Given the description of an element on the screen output the (x, y) to click on. 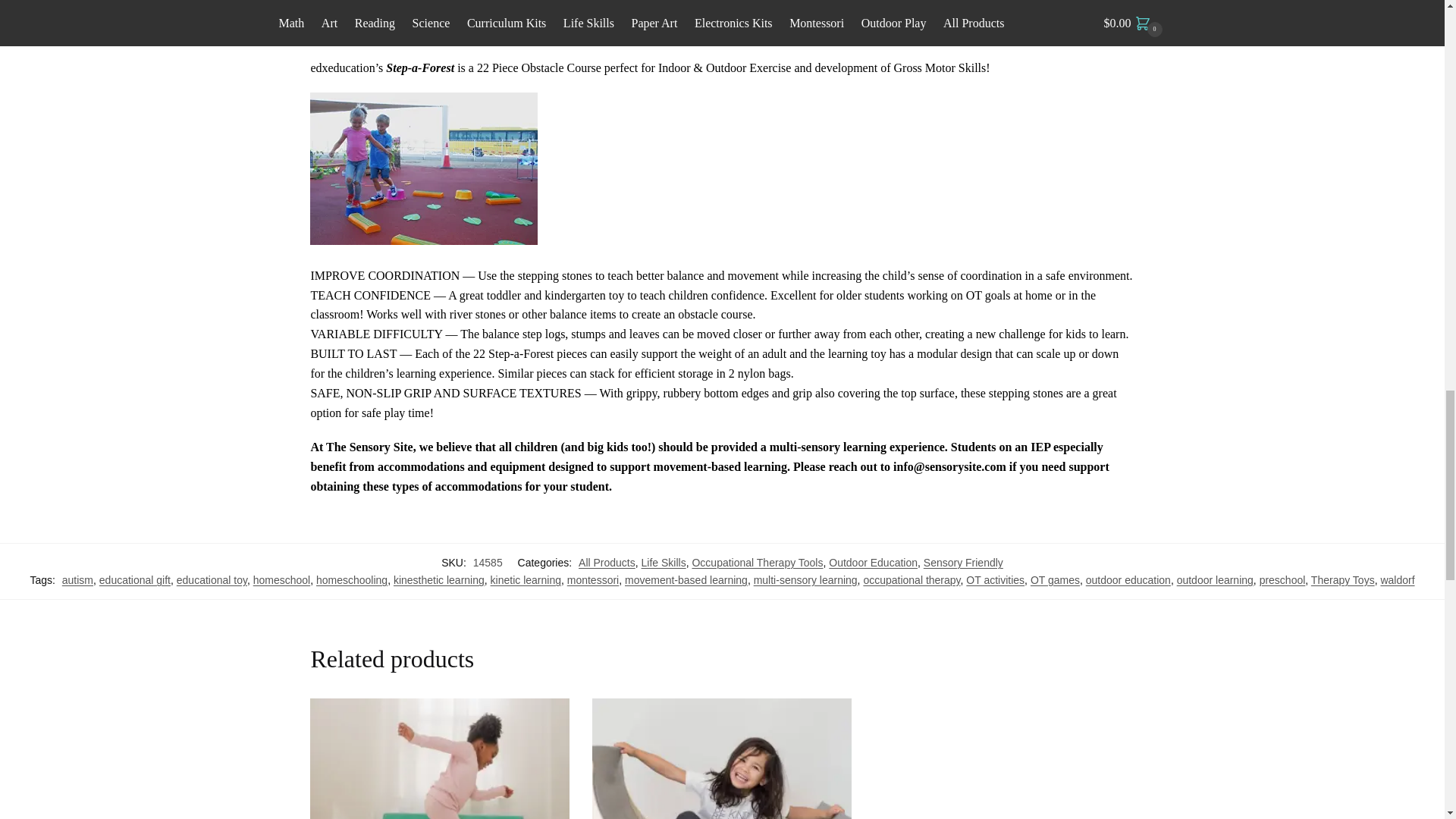
autism (77, 580)
Sensory Friendly (963, 562)
homeschool (282, 580)
educational toy (211, 580)
All Products (606, 562)
Life Skills (663, 562)
Occupational Therapy Tools (756, 562)
Montessori Pikler Arch (721, 758)
educational gift (134, 580)
Description (721, 18)
